Given the description of an element on the screen output the (x, y) to click on. 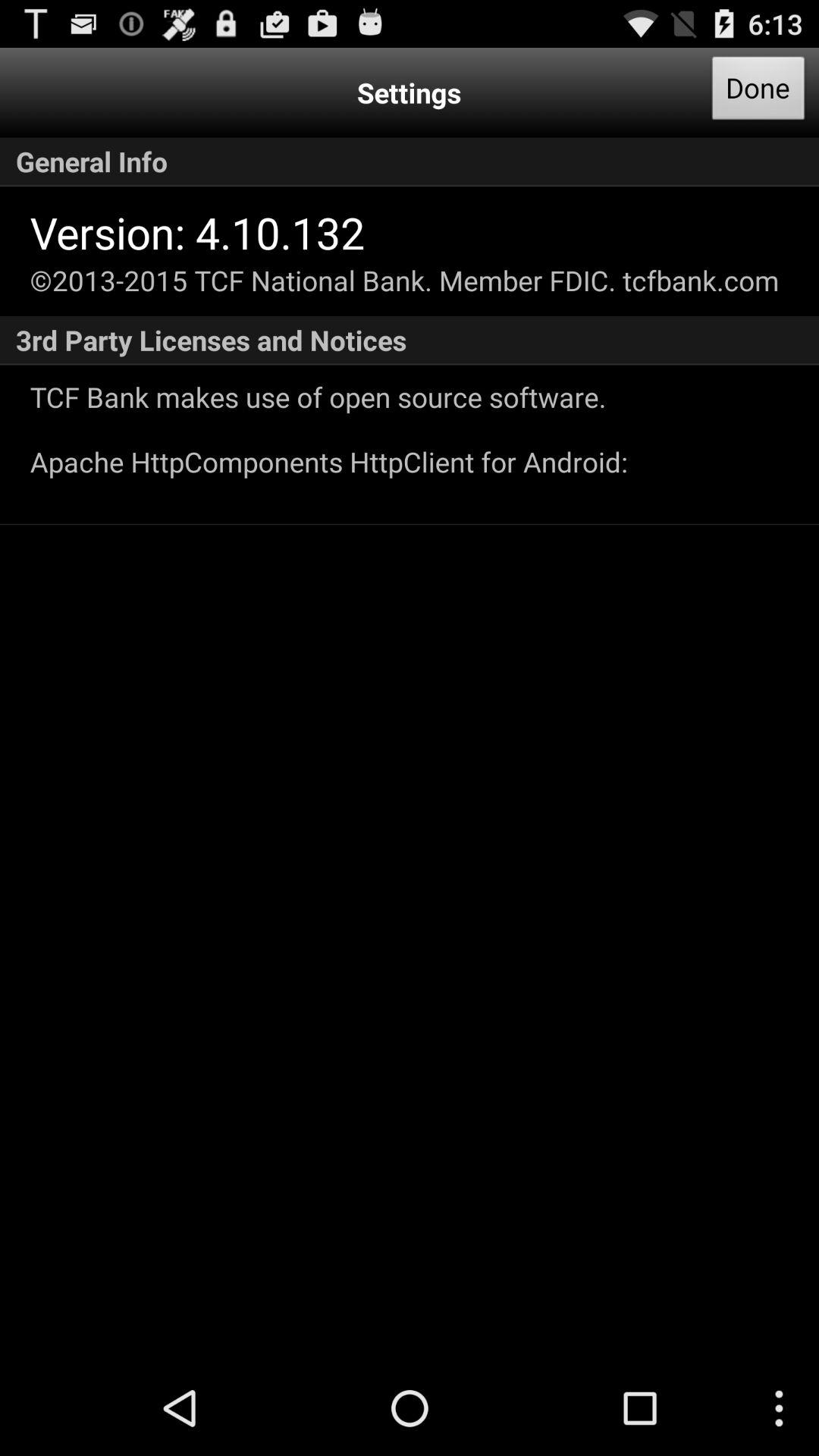
choose app next to the settings item (758, 92)
